Given the description of an element on the screen output the (x, y) to click on. 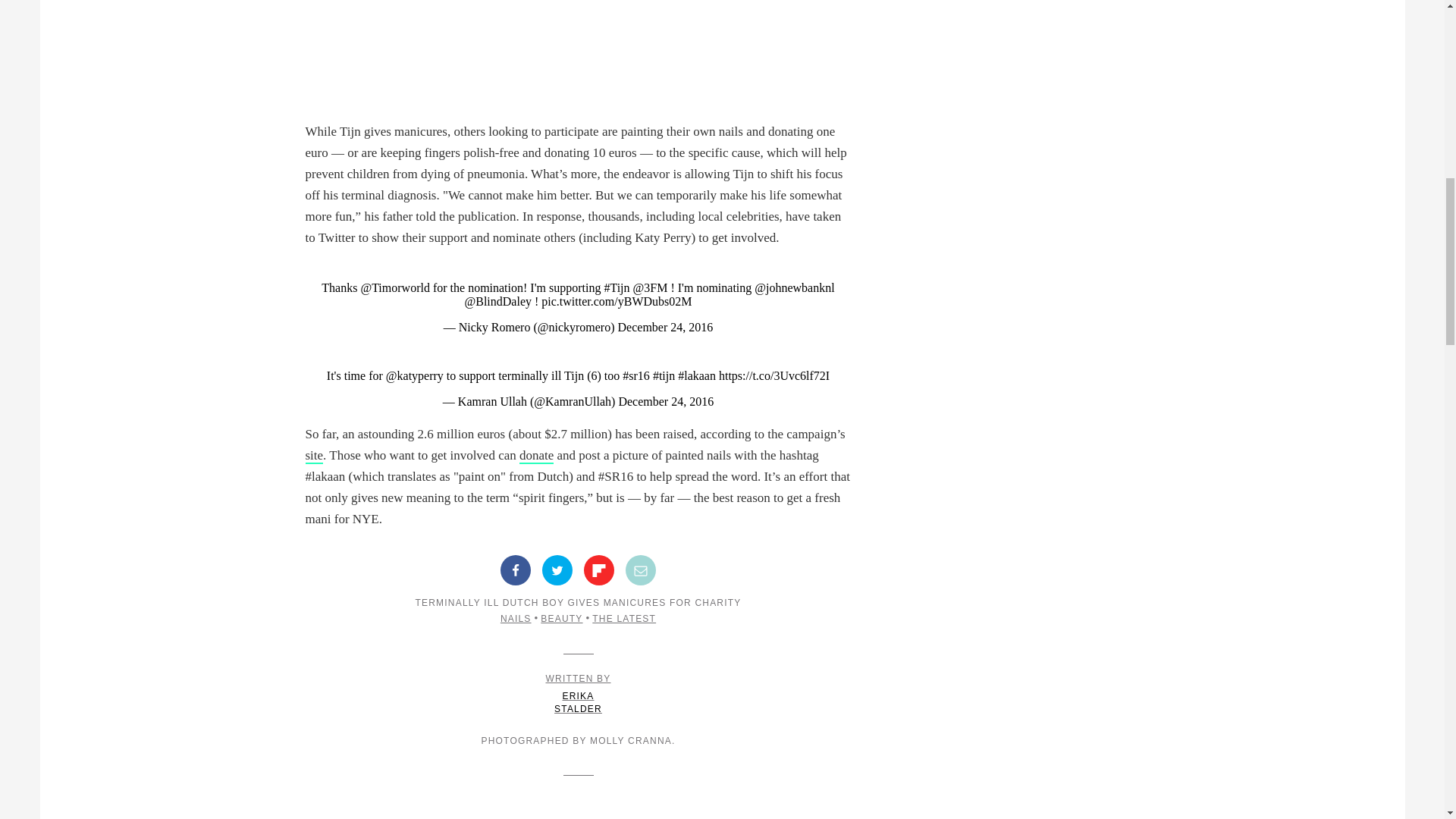
December 24, 2016 (665, 400)
December 24, 2016 (665, 327)
Share on Flipboard (598, 570)
Share on Twitter (556, 570)
Share on Facebook (515, 570)
donate (536, 455)
Share by Email (641, 570)
site (313, 455)
